Given the description of an element on the screen output the (x, y) to click on. 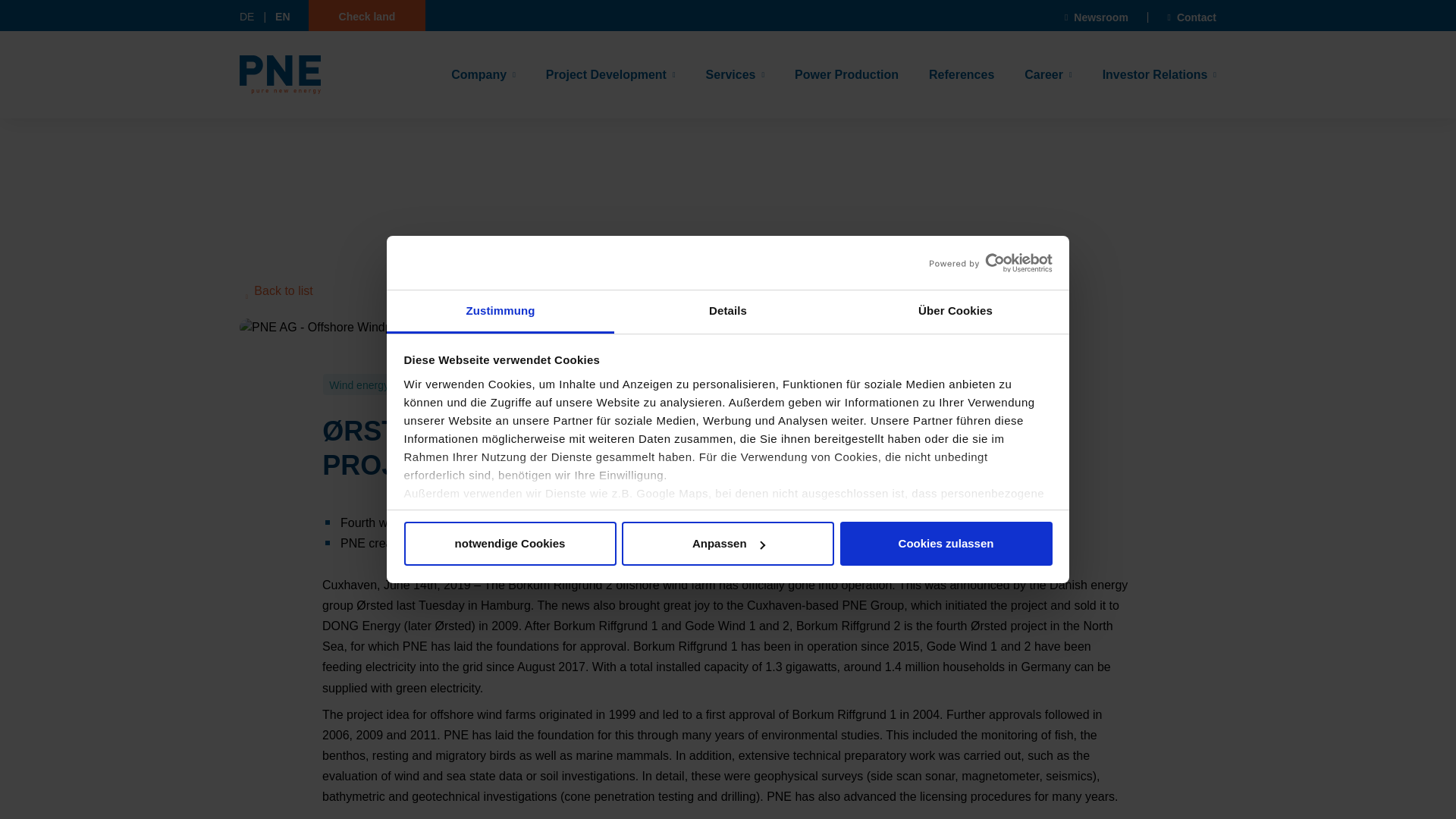
Anpassen (727, 543)
Impressum (435, 638)
notwendige Cookies (509, 543)
Zustimmung (500, 311)
Wind energy (359, 384)
Homepage (280, 74)
Cookies zulassen (946, 543)
Details (727, 311)
